Given the description of an element on the screen output the (x, y) to click on. 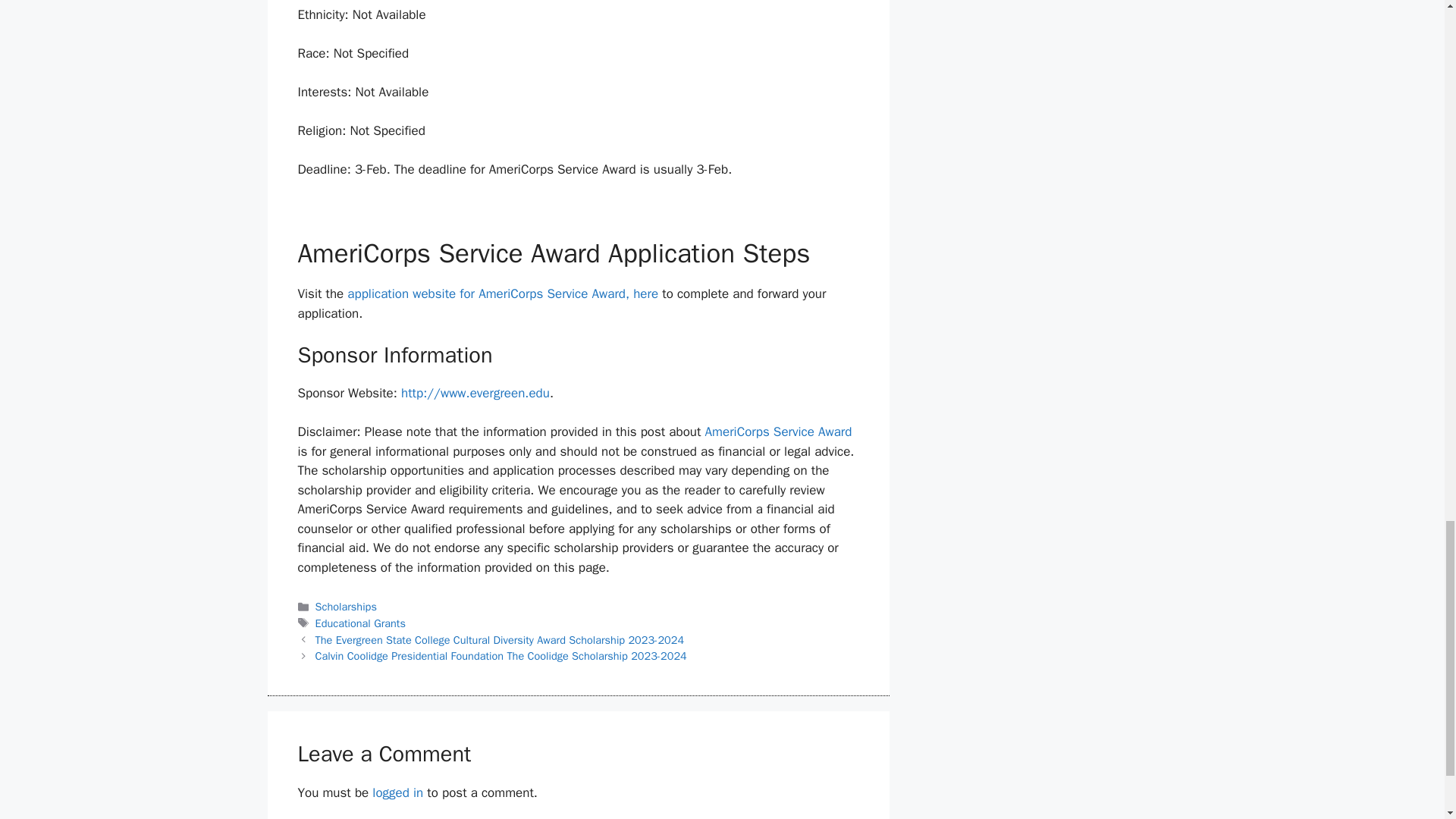
Scholarships (346, 606)
AmeriCorps Service Award (777, 431)
Educational Grants (360, 622)
logged in (397, 792)
application website for AmeriCorps Service Award, here (502, 293)
